Given the description of an element on the screen output the (x, y) to click on. 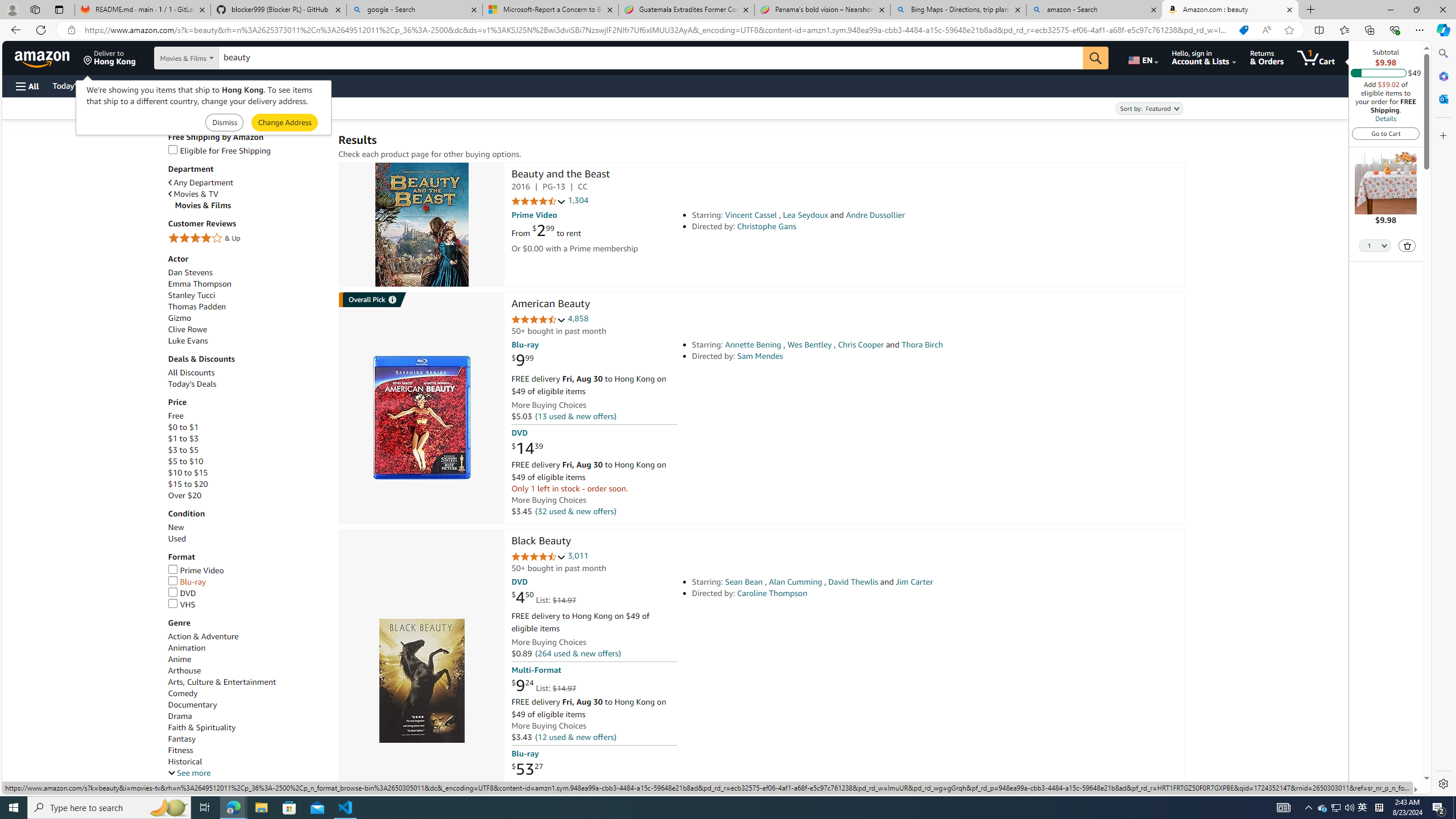
Animation (247, 647)
Annette Bening (753, 344)
Fitness (180, 750)
Arthouse (247, 670)
$9.24 List: $14.97 (543, 685)
Dan Stevens (189, 272)
